Given the description of an element on the screen output the (x, y) to click on. 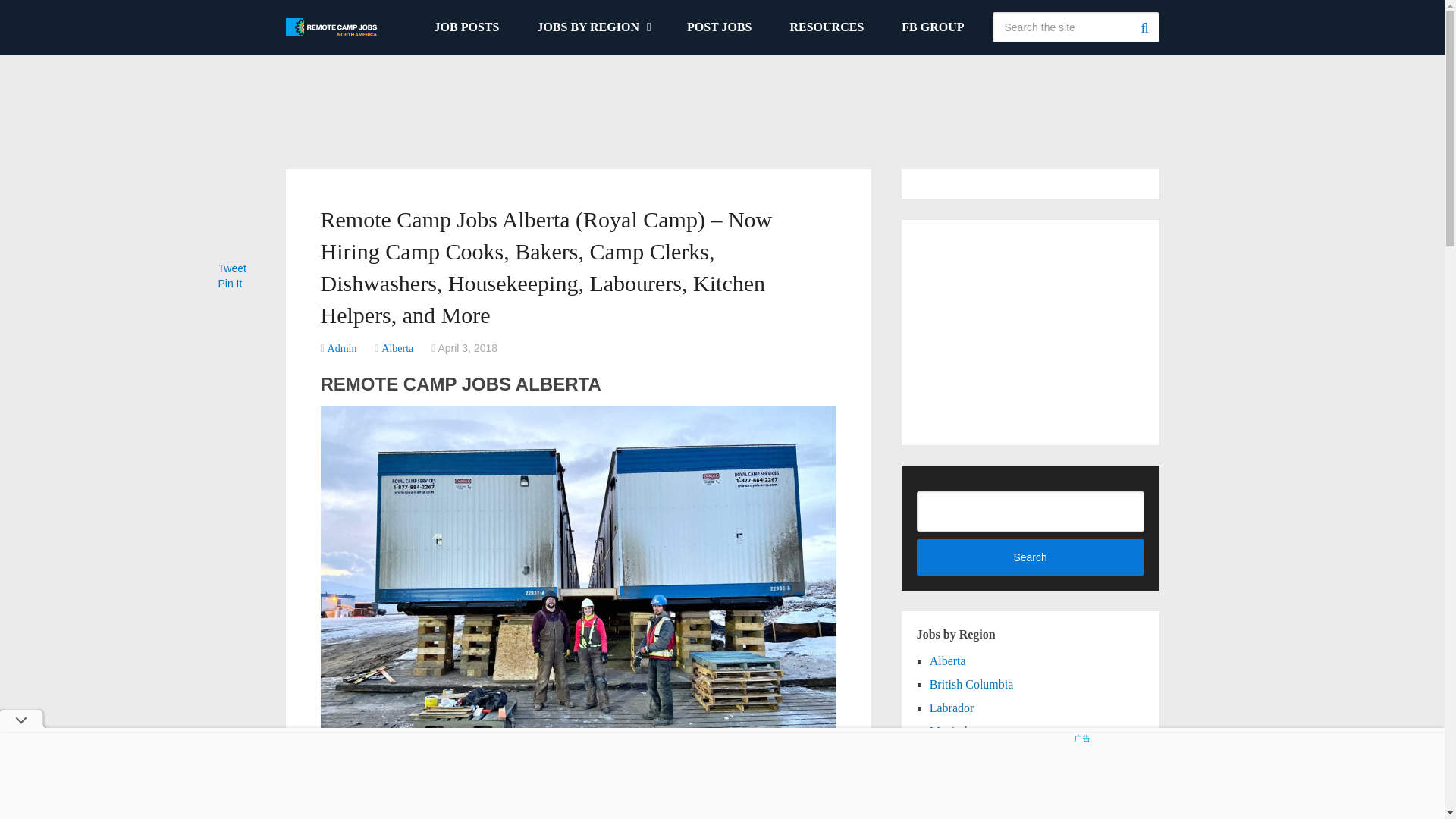
Search (1143, 27)
JOB POSTS (466, 27)
POST JOBS (719, 27)
RESOURCES (826, 27)
Alberta (397, 348)
FB GROUP (932, 27)
Admin (341, 348)
Posts by Admin (341, 348)
Advertisement (721, 103)
View all posts in Alberta (397, 348)
JOBS BY REGION (593, 27)
